Given the description of an element on the screen output the (x, y) to click on. 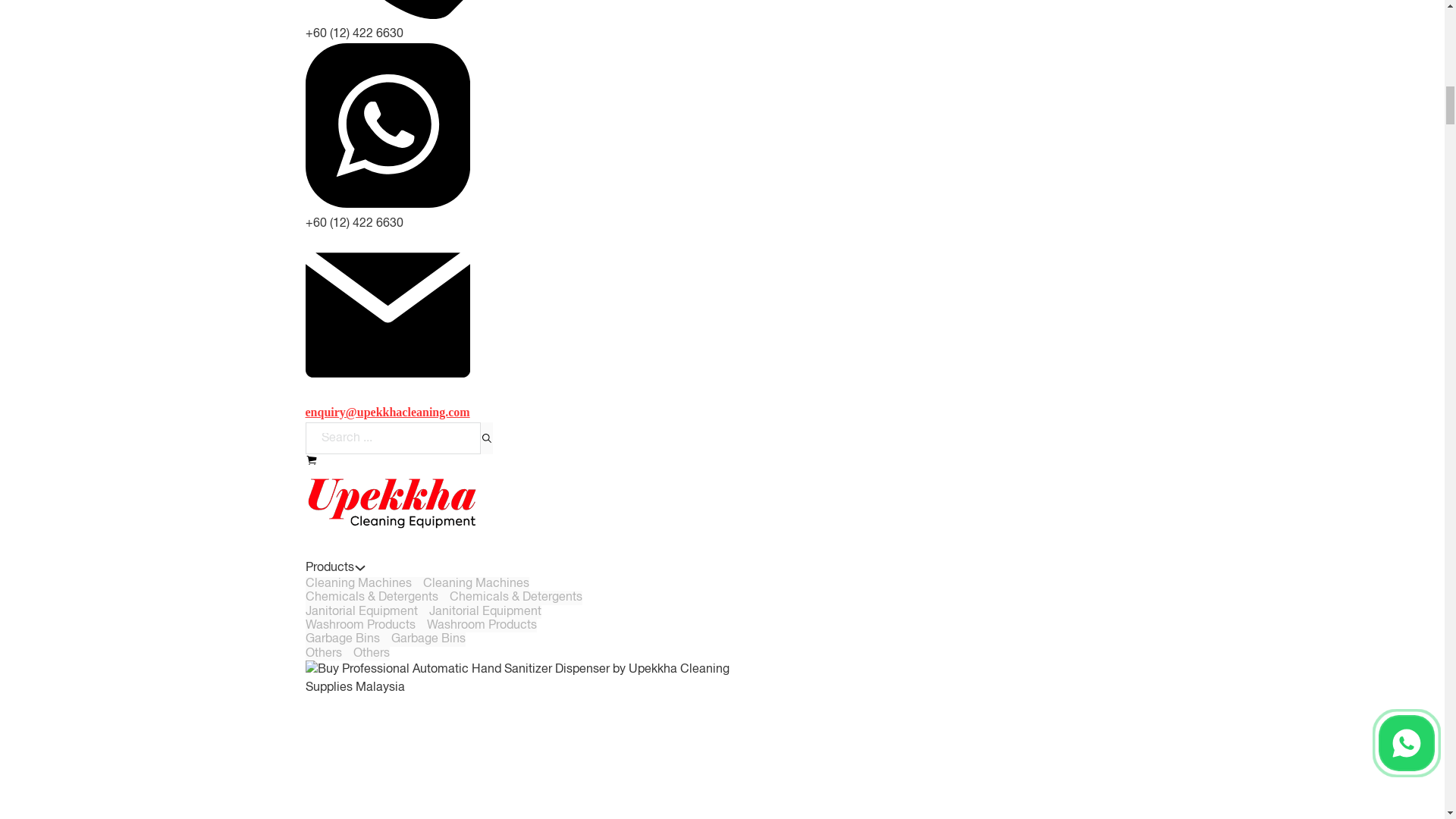
Vacuum Cleaner (350, 388)
Floor Burnisher (345, 94)
Carpet Extractor (349, 576)
